Given the description of an element on the screen output the (x, y) to click on. 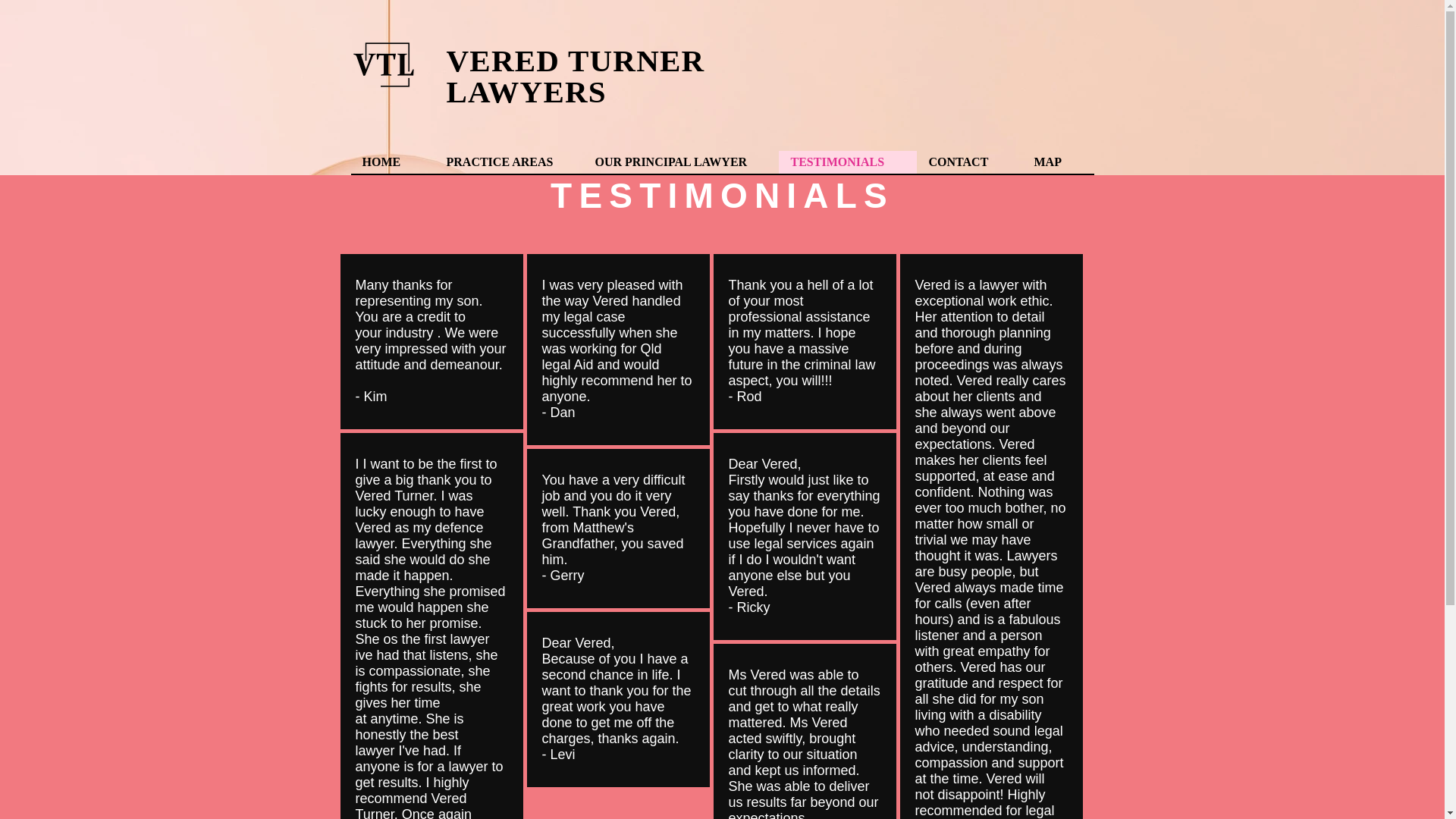
VERED (506, 60)
OUR PRINCIPAL LAWYER (679, 161)
CONTACT (968, 161)
TESTIMONIALS (846, 161)
MAP (1058, 161)
TURNER LAWYERS (574, 75)
HOME (391, 161)
PRACTICE AREAS (507, 161)
